Given the description of an element on the screen output the (x, y) to click on. 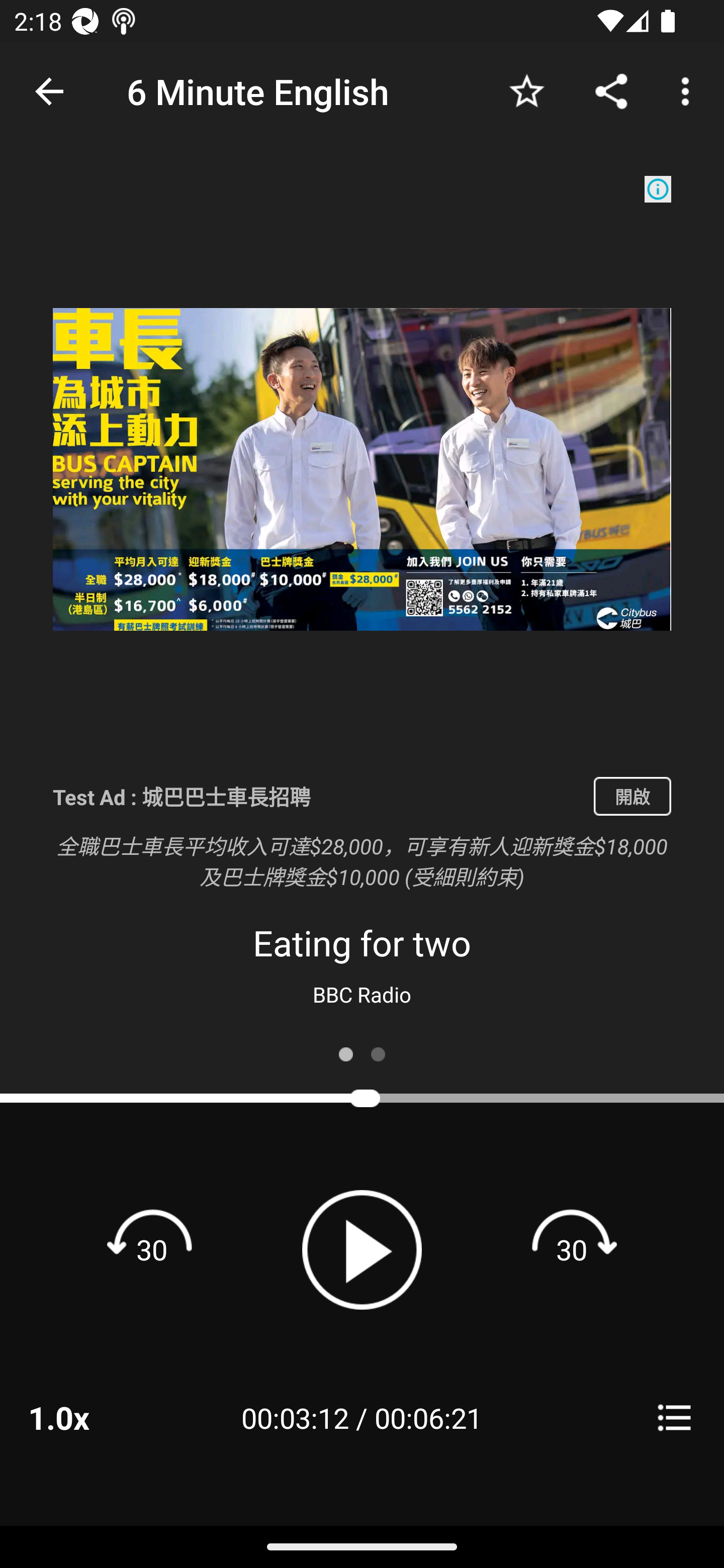
Navigate up (49, 91)
Add to Favorites (526, 90)
Share... (611, 90)
More options (688, 90)
Ad Choices Icon (657, 188)
開啟 (632, 796)
Test Ad : 城巴巴士車長招聘 (315, 796)
BBC Radio (361, 994)
Play (361, 1249)
Rewind (151, 1249)
Fast forward (571, 1249)
1.0x Playback Speeds (84, 1417)
00:06:21 (428, 1417)
